Given the description of an element on the screen output the (x, y) to click on. 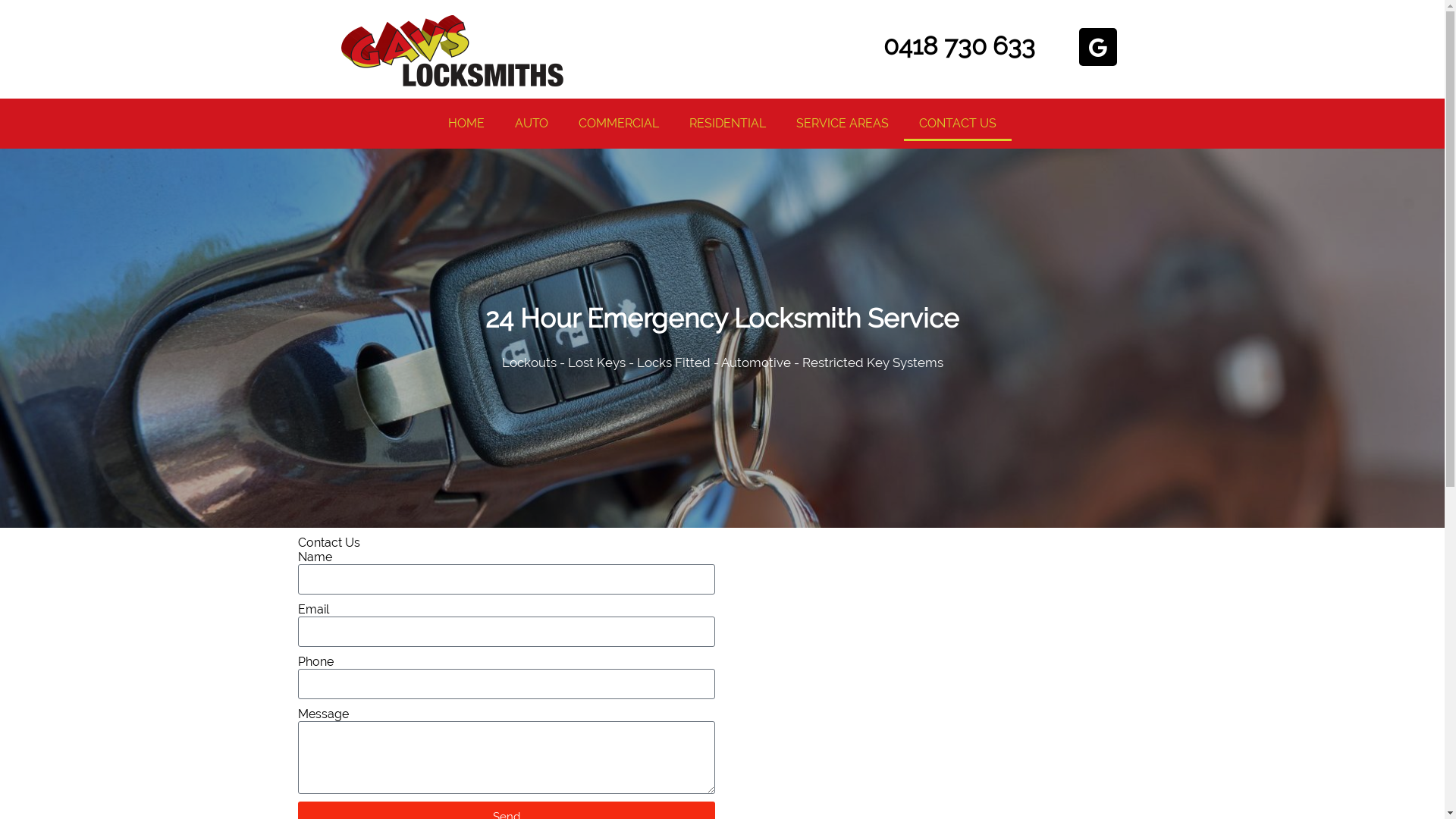
COMMERCIAL Element type: text (618, 123)
RESIDENTIAL Element type: text (727, 123)
Unknown Element type: hover (452, 53)
AUTO Element type: text (531, 123)
HOME Element type: text (466, 123)
CONTACT US Element type: text (957, 123)
SERVICE AREAS Element type: text (842, 123)
0418 730 633 Element type: text (958, 45)
